Given the description of an element on the screen output the (x, y) to click on. 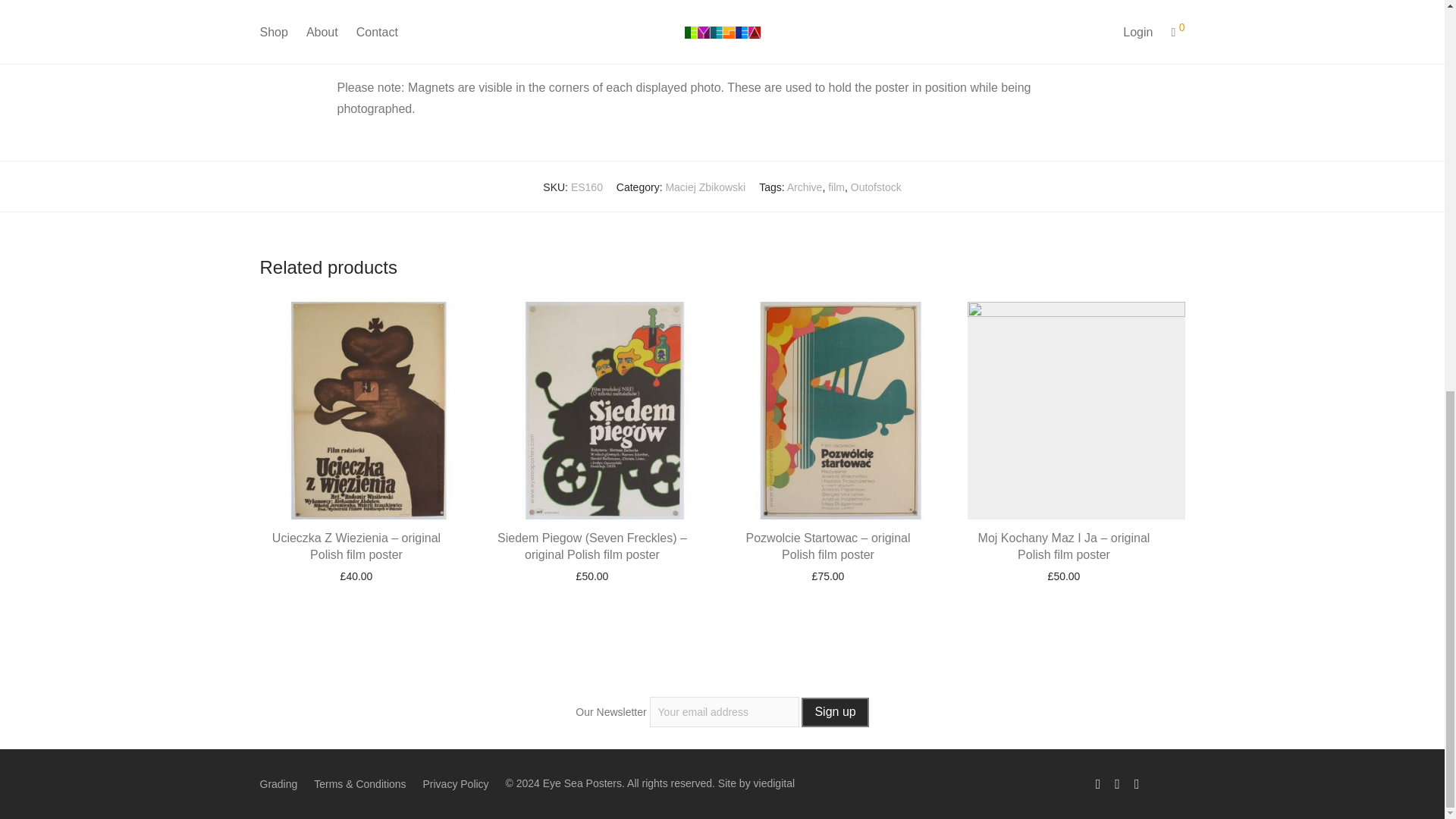
Maciej Zbikowski (705, 186)
Outofstock (875, 186)
film (836, 186)
Archive (804, 186)
Sign up (834, 712)
